Given the description of an element on the screen output the (x, y) to click on. 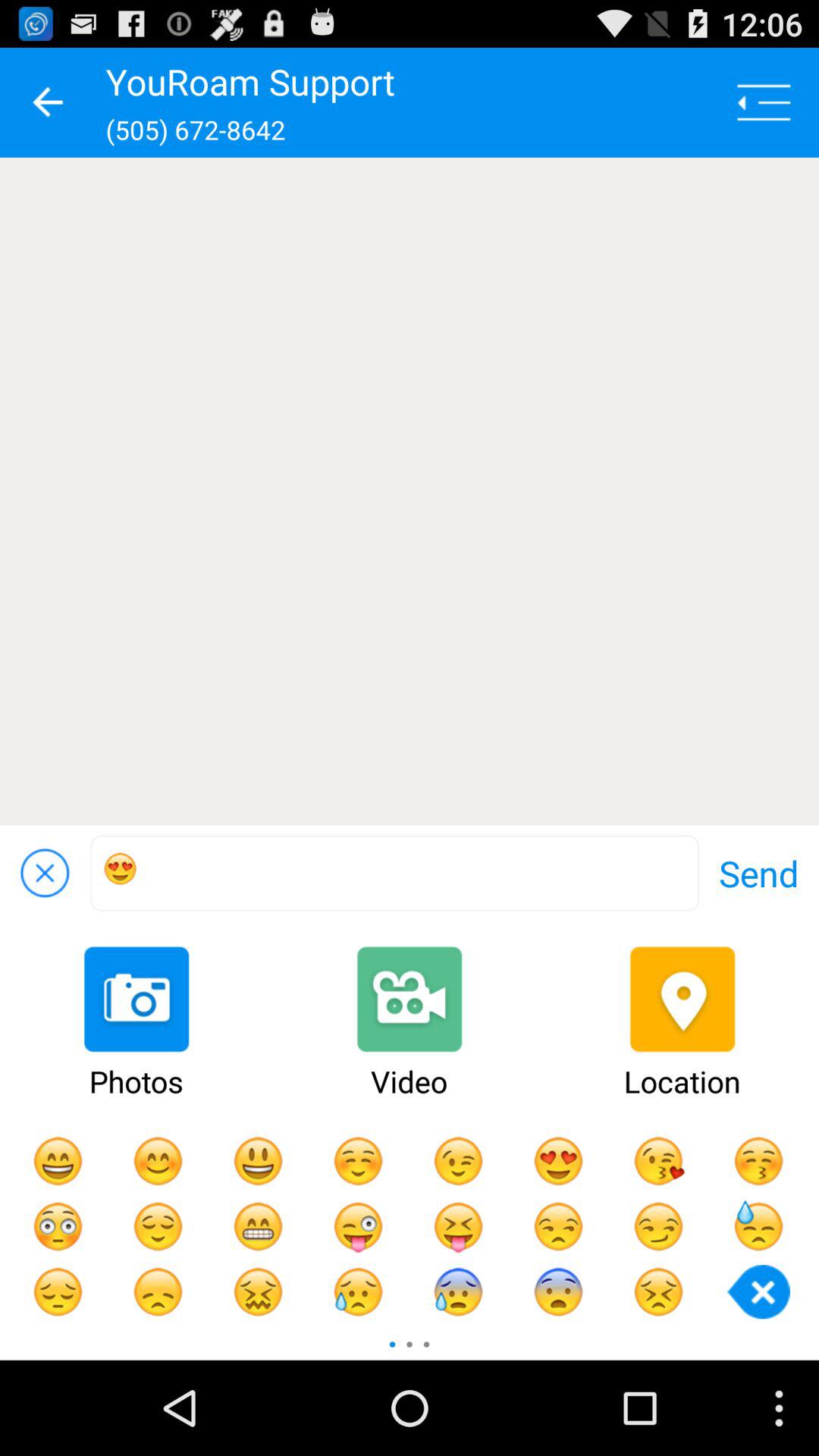
press app next to the send icon (394, 873)
